Given the description of an element on the screen output the (x, y) to click on. 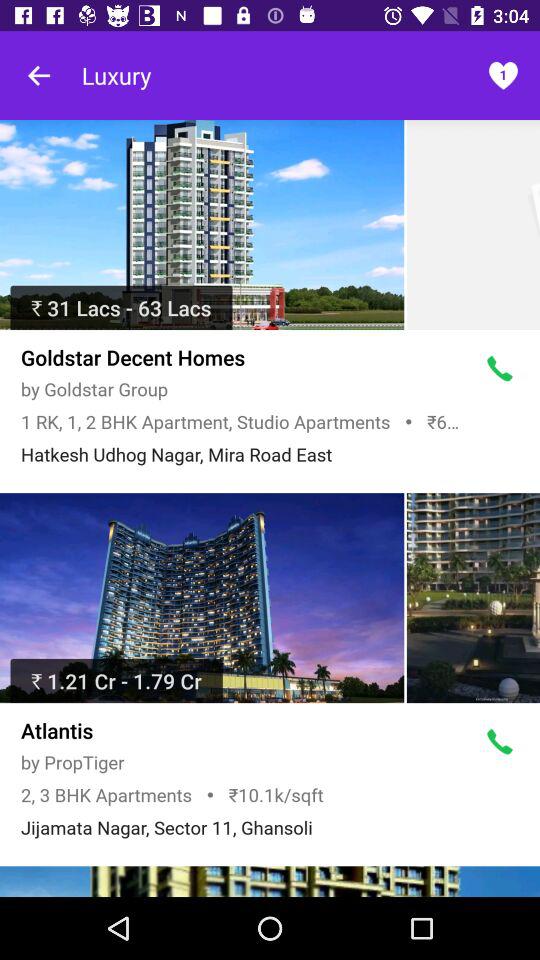
call business (500, 742)
